Given the description of an element on the screen output the (x, y) to click on. 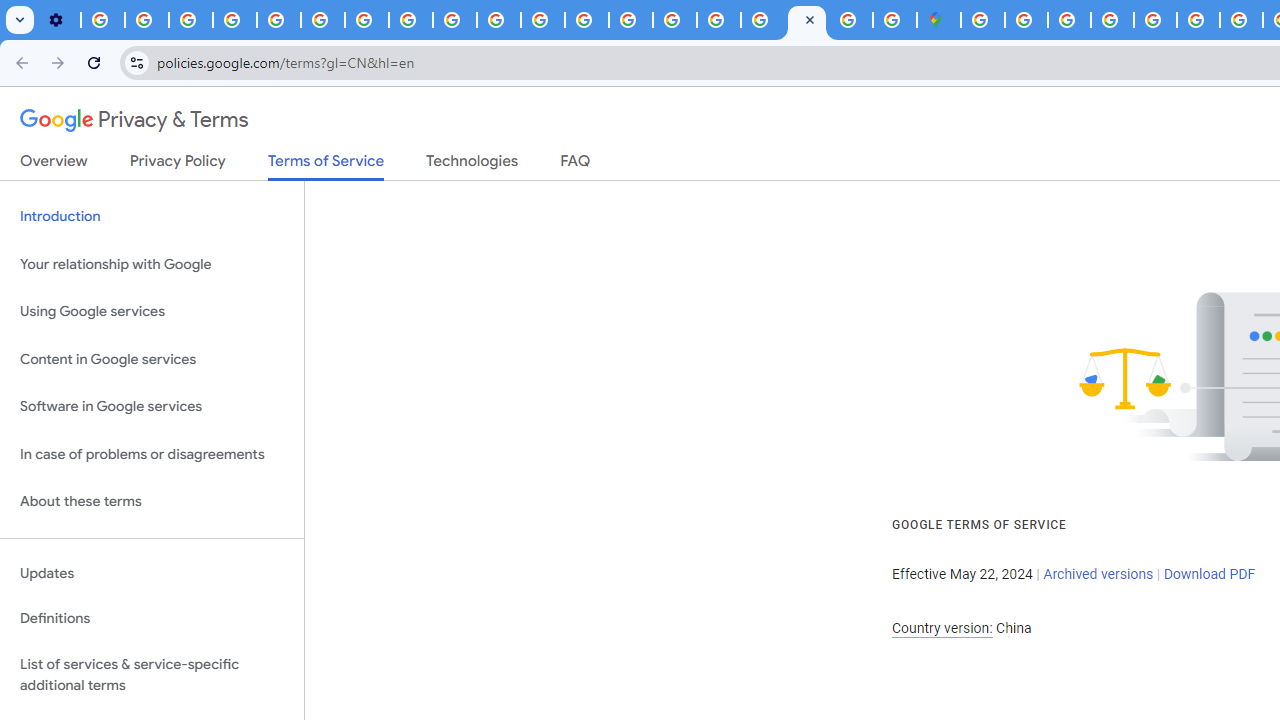
https://scholar.google.com/ (542, 20)
Settings - Customize profile (58, 20)
FAQ (575, 165)
Terms of Service (326, 166)
Your relationship with Google (152, 263)
Introduction (152, 216)
YouTube (322, 20)
Privacy Help Center - Policies Help (278, 20)
Privacy Checkup (498, 20)
Sign in - Google Accounts (982, 20)
